Given the description of an element on the screen output the (x, y) to click on. 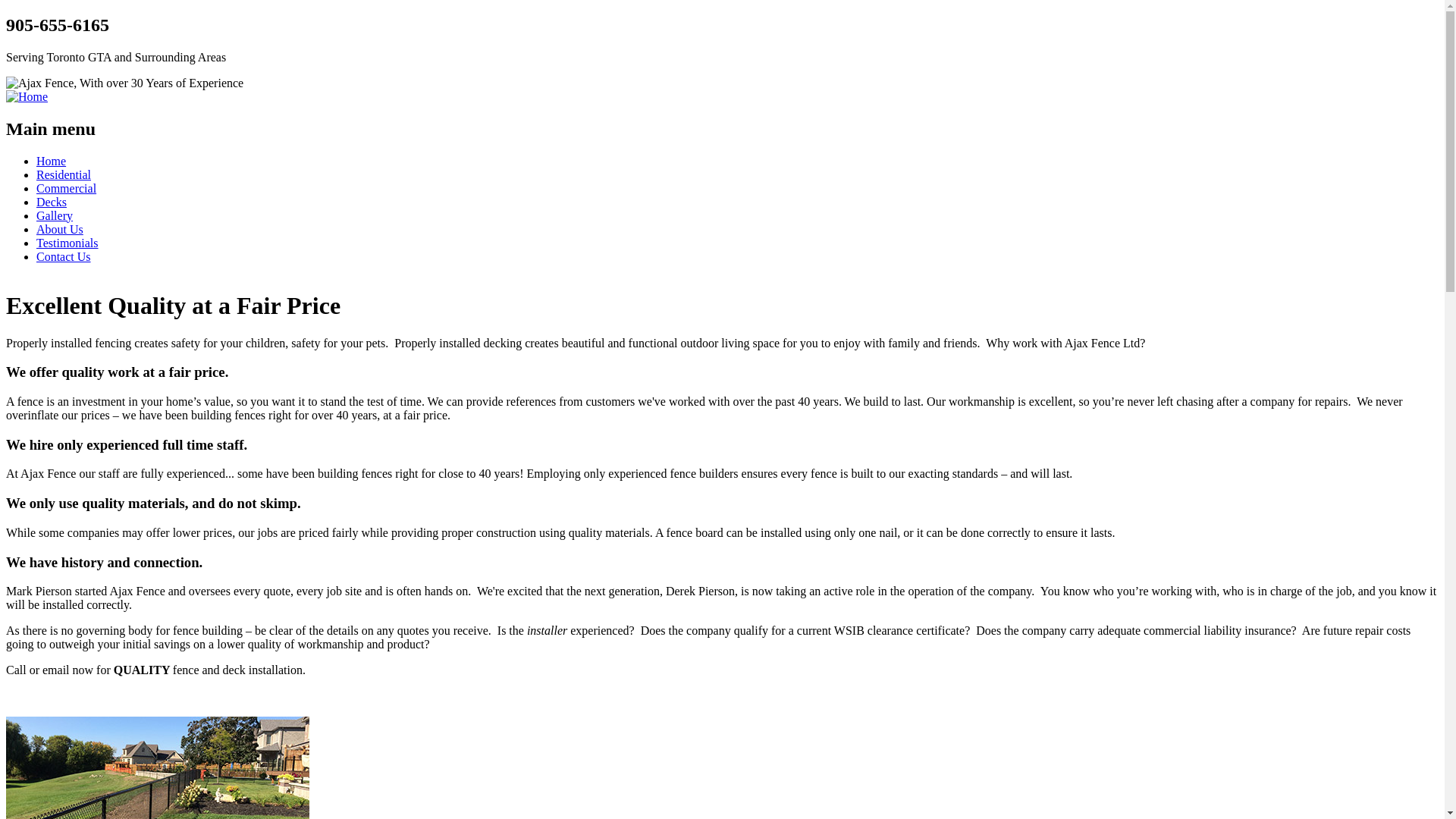
Commercial Element type: text (66, 188)
Contact Us Element type: text (63, 256)
Jump to navigation Element type: text (52, 15)
Testimonials Element type: text (67, 242)
Residential Element type: text (63, 174)
About Us Element type: text (59, 228)
Gallery Element type: text (54, 215)
Home Element type: text (50, 160)
Decks Element type: text (51, 201)
Home Element type: hover (26, 96)
